Given the description of an element on the screen output the (x, y) to click on. 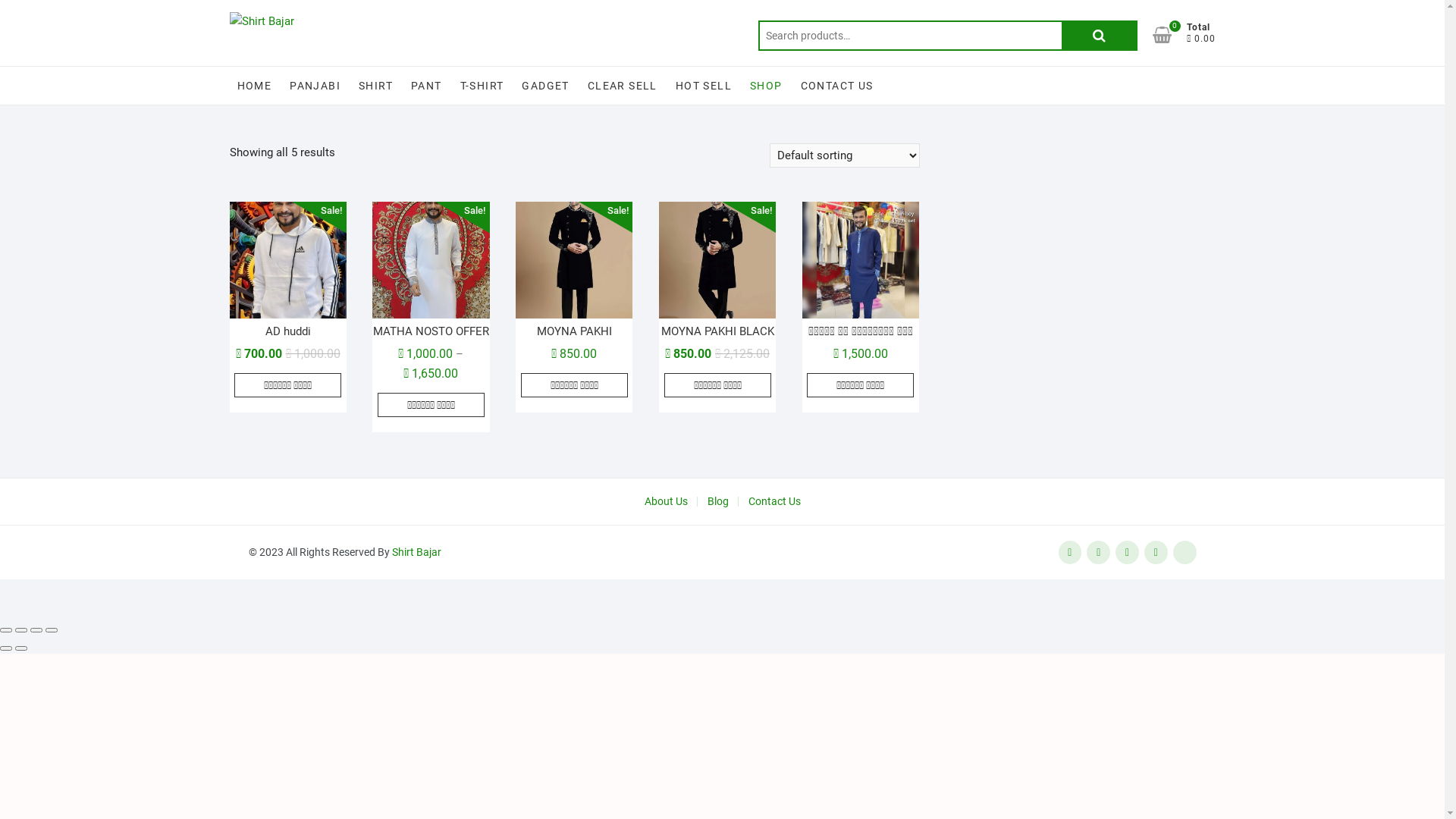
0 Element type: text (1169, 34)
PANJABI Element type: text (315, 85)
SHIRT Element type: text (375, 85)
Blog Element type: text (717, 501)
Contact Us Element type: text (773, 501)
CLEAR SELL Element type: text (622, 85)
SHOP Element type: text (766, 85)
Search Element type: text (1099, 35)
CONTACT US Element type: text (837, 85)
HOT SELL Element type: text (703, 85)
HOME Element type: text (254, 85)
About Us Element type: text (665, 501)
GADGET Element type: text (545, 85)
T-SHIRT Element type: text (481, 85)
PANT Element type: text (426, 85)
Shirt Bajar Element type: text (415, 552)
